Given the description of an element on the screen output the (x, y) to click on. 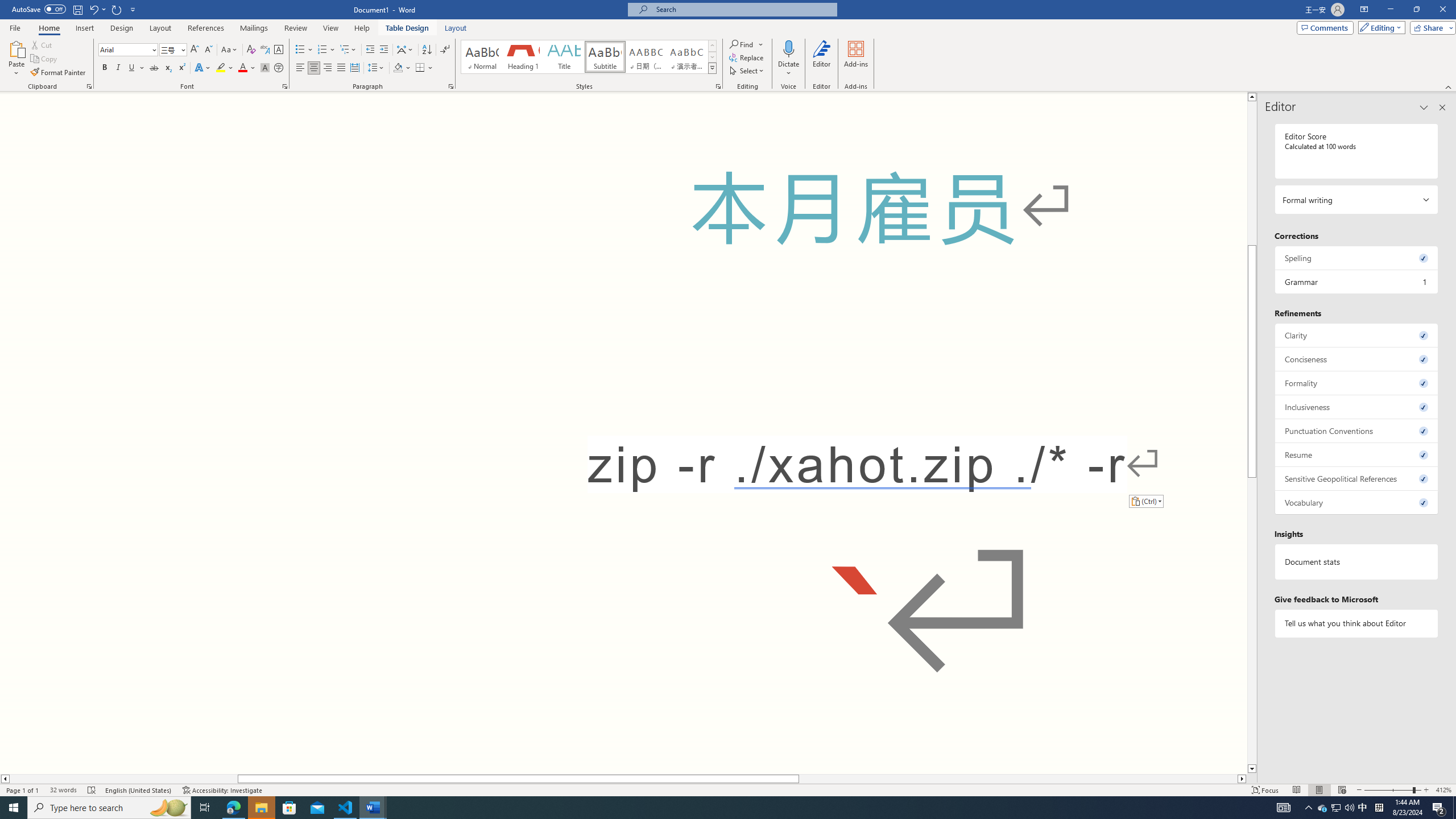
Multilevel List (347, 49)
Language English (United States) (138, 790)
Strikethrough (154, 67)
Undo Paste (96, 9)
Font Color (246, 67)
Vocabulary, 0 issues. Press space or enter to review items. (1356, 502)
Subscript (167, 67)
Action: Paste alternatives (1145, 500)
Character Shading (264, 67)
Title (564, 56)
